Given the description of an element on the screen output the (x, y) to click on. 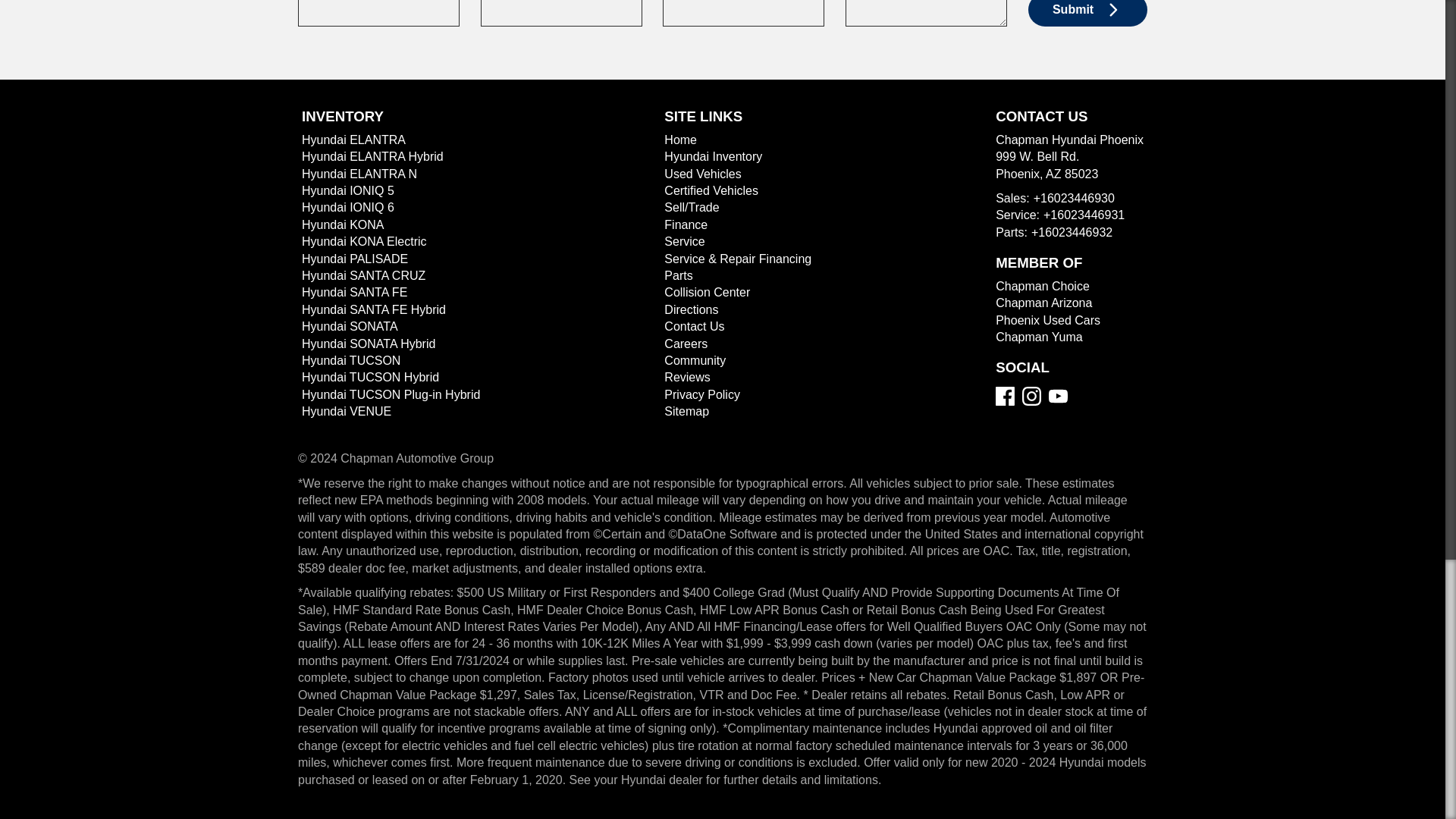
Instagram (1031, 395)
Facebook (1004, 395)
YouTube (1057, 395)
